Given the description of an element on the screen output the (x, y) to click on. 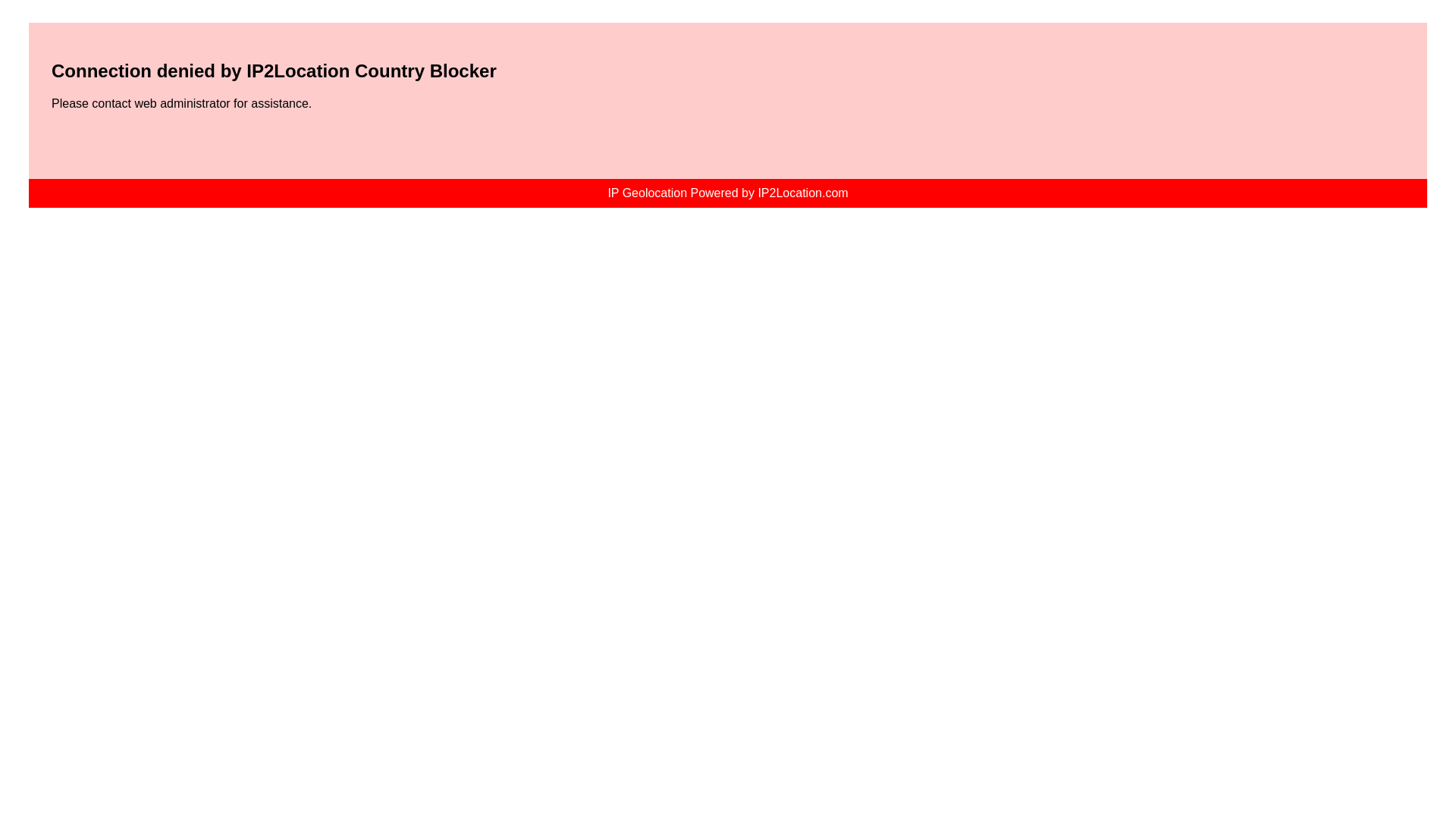
IP Geolocation Powered by IP2Location.com (727, 192)
